Given the description of an element on the screen output the (x, y) to click on. 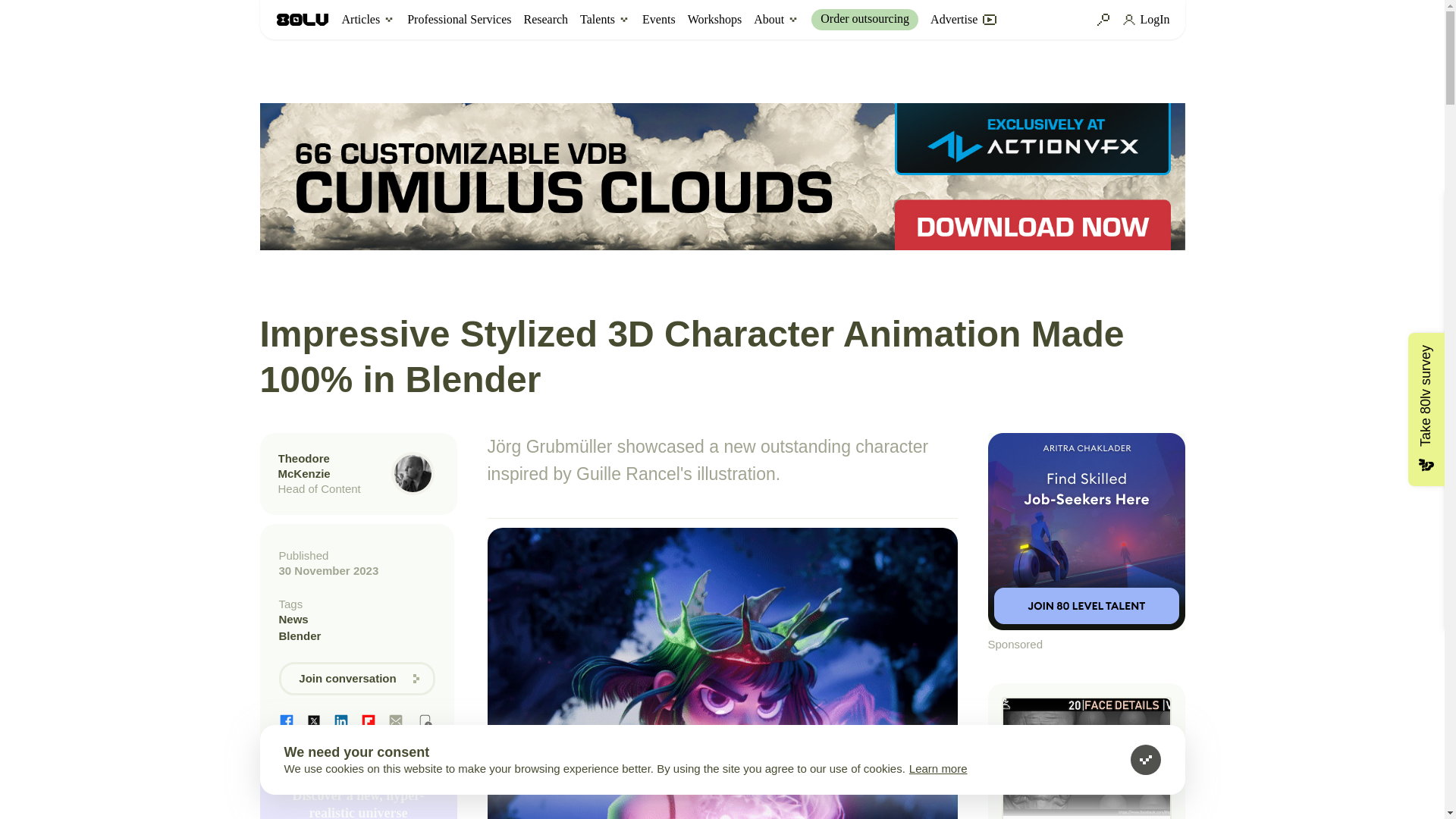
Order outsourcing (864, 19)
Blender (357, 635)
Facebook (286, 720)
Flipboard (368, 720)
Theodore McKenzie (304, 465)
News (357, 619)
Twitter (313, 720)
LinkedIn (341, 720)
Sponsored (1086, 542)
Join conversation (357, 678)
